Given the description of an element on the screen output the (x, y) to click on. 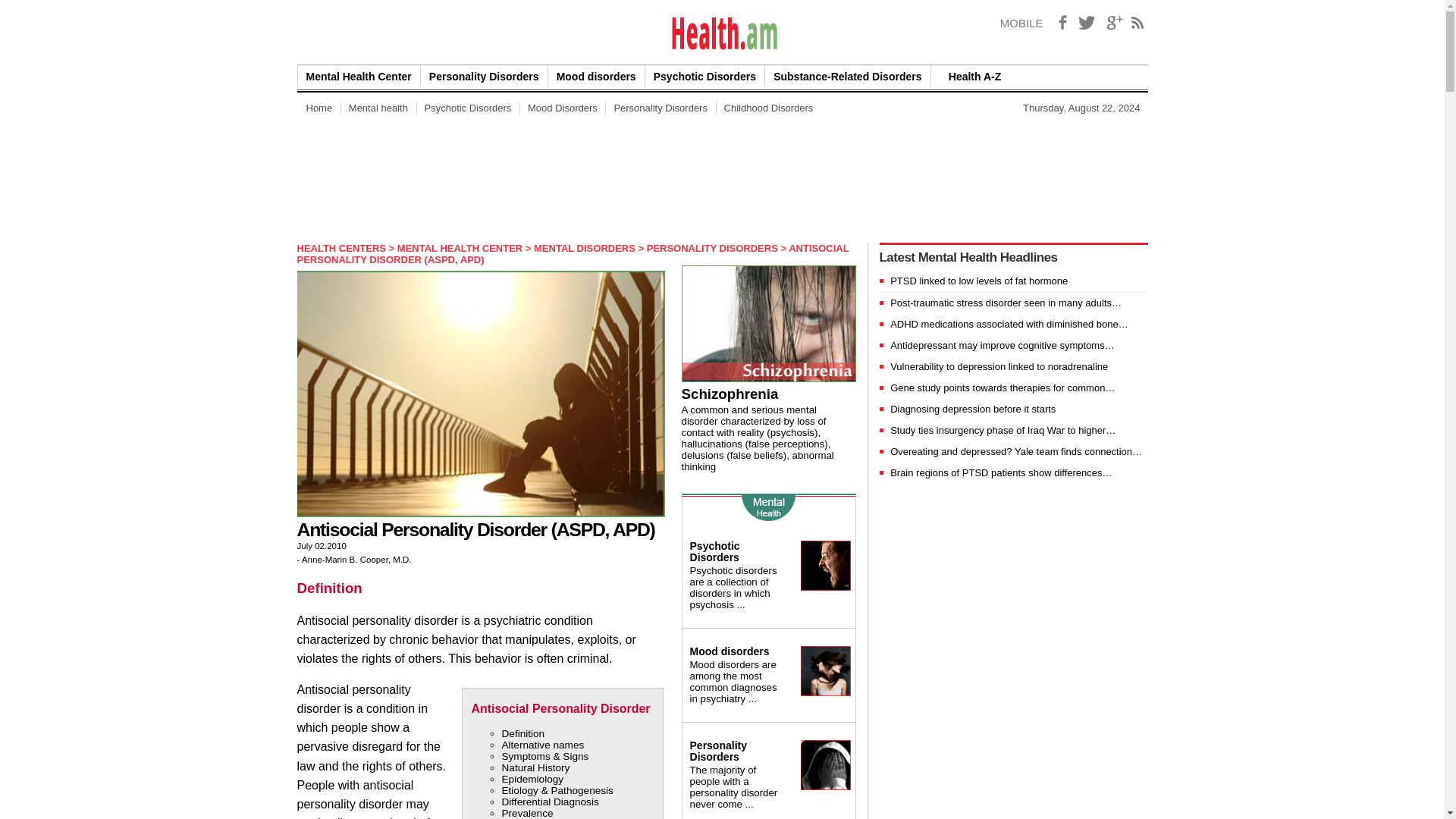
health.am (722, 33)
Mental Health Center (358, 76)
Home (318, 107)
Rss Feeds (1137, 22)
Advertisement (572, 178)
Personality Disorders (483, 76)
Childhood Disorders (768, 107)
Mental health (378, 107)
Psychotic Disorders (467, 107)
Mood Disorders (562, 107)
